Given the description of an element on the screen output the (x, y) to click on. 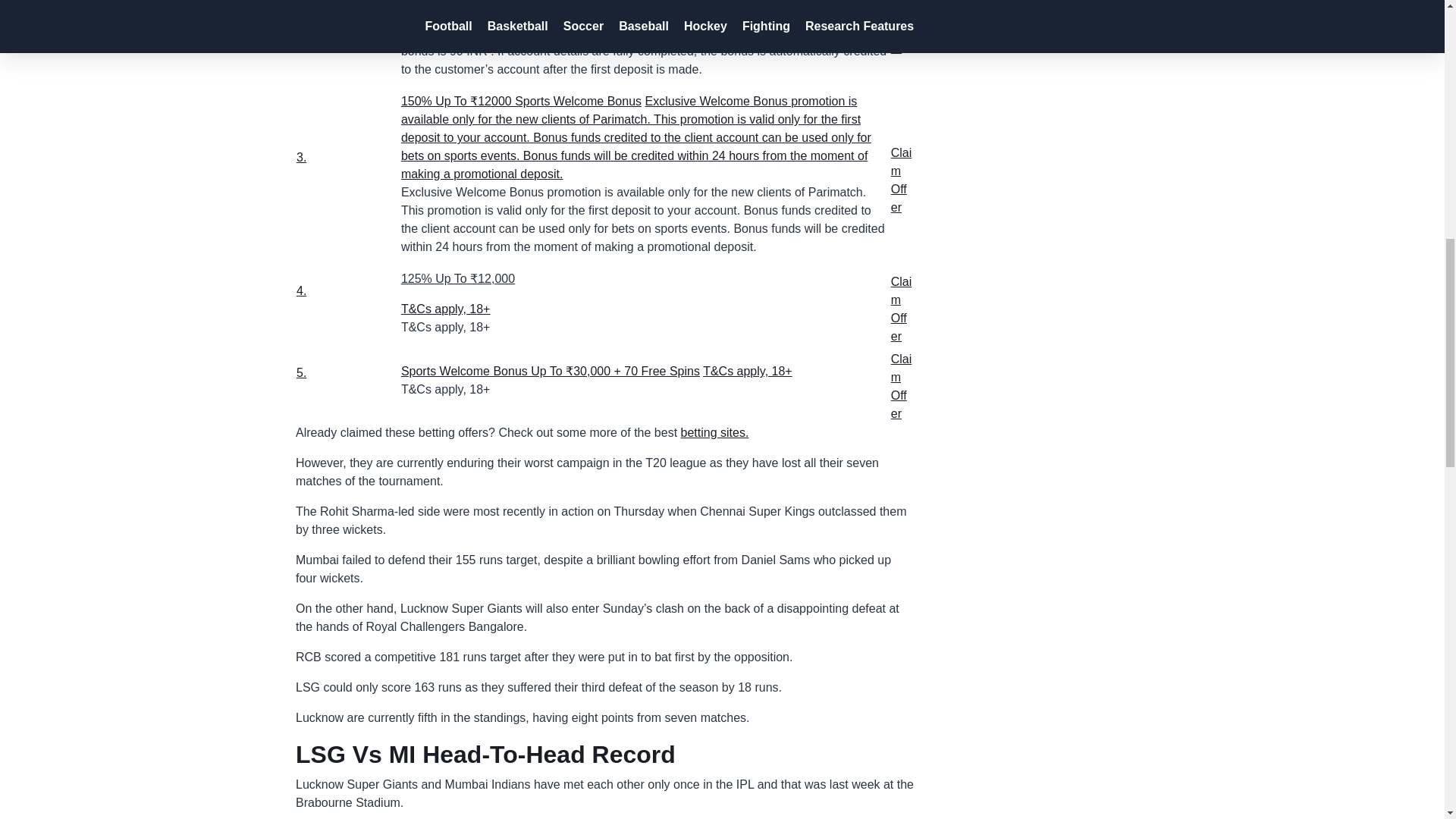
2. (347, 18)
4. (347, 304)
3. (344, 172)
5. (347, 384)
